Given the description of an element on the screen output the (x, y) to click on. 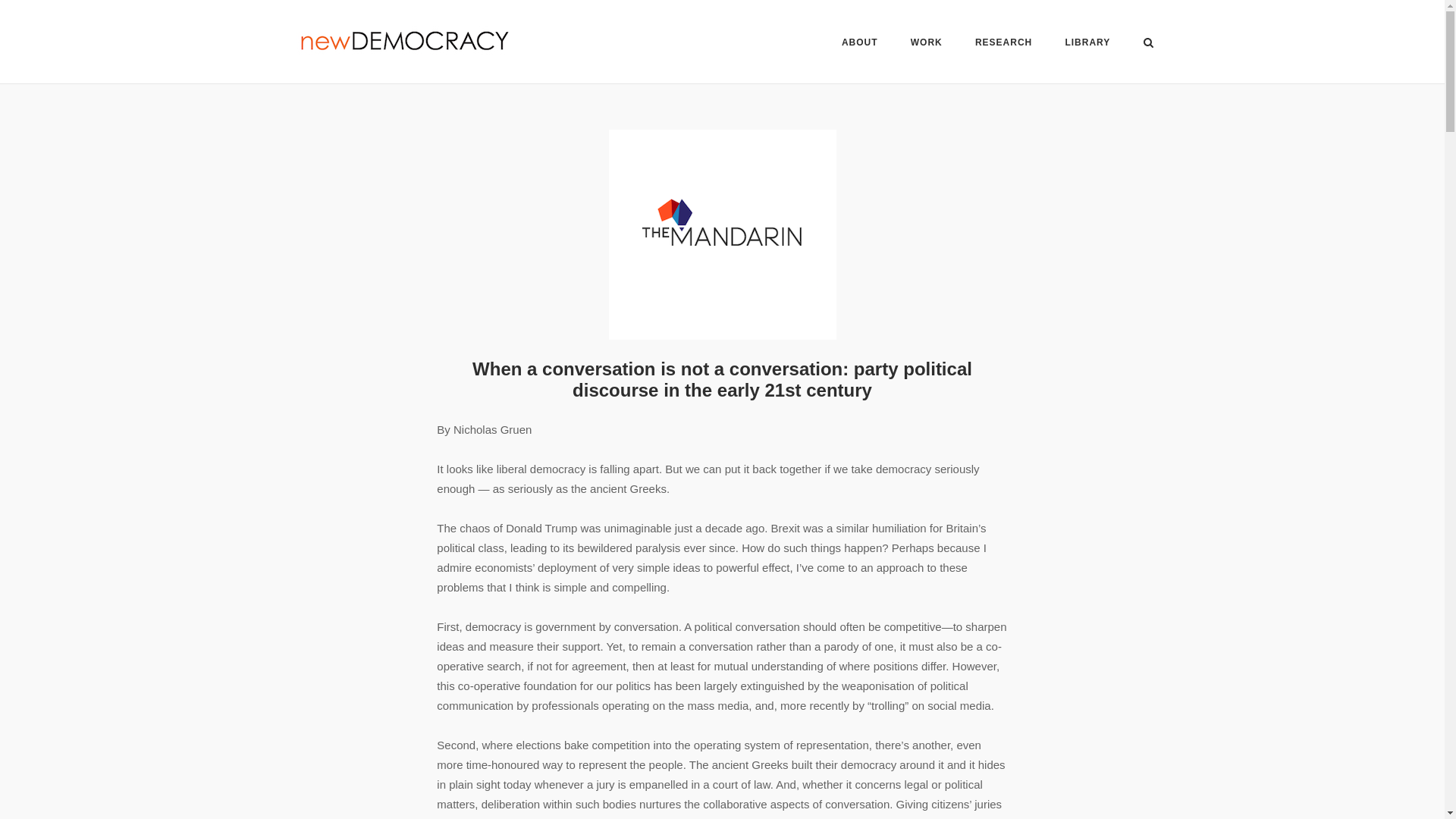
ABOUT (859, 43)
WORK (926, 43)
RESEARCH (1003, 43)
LIBRARY (1086, 43)
